Given the description of an element on the screen output the (x, y) to click on. 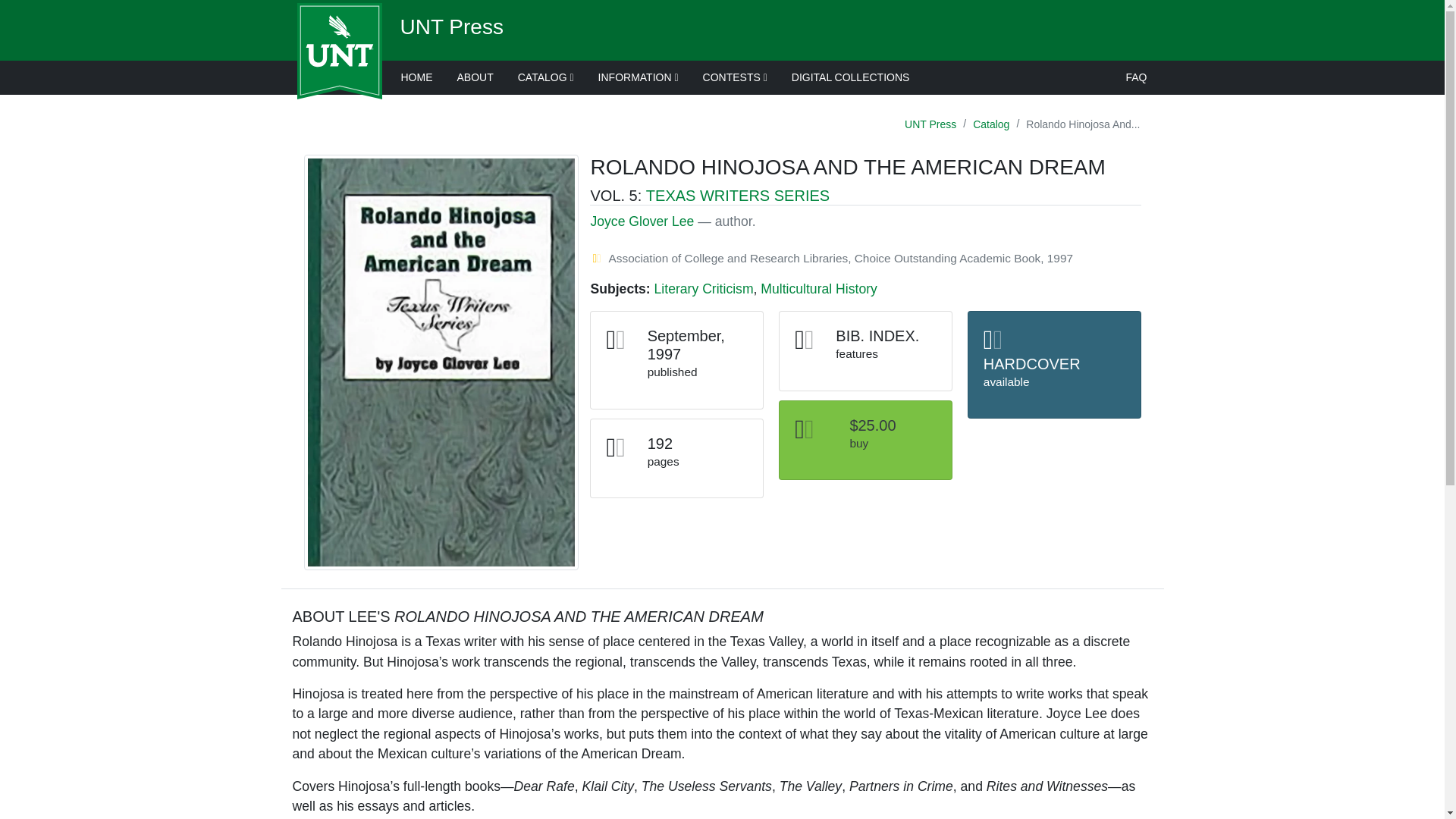
CONTESTS (734, 77)
Literary Criticism (703, 288)
Joyce Glover Lee (641, 221)
INFORMATION (638, 77)
TEXAS WRITERS SERIES (737, 195)
HOME (416, 77)
FAQ (1135, 77)
UNT Press (451, 26)
Rolando Hinojosa And... (1082, 124)
Catalog (991, 124)
Multicultural History (818, 288)
CATALOG (545, 77)
ABOUT (474, 77)
DIGITAL COLLECTIONS (849, 77)
UNT Press (930, 124)
